Given the description of an element on the screen output the (x, y) to click on. 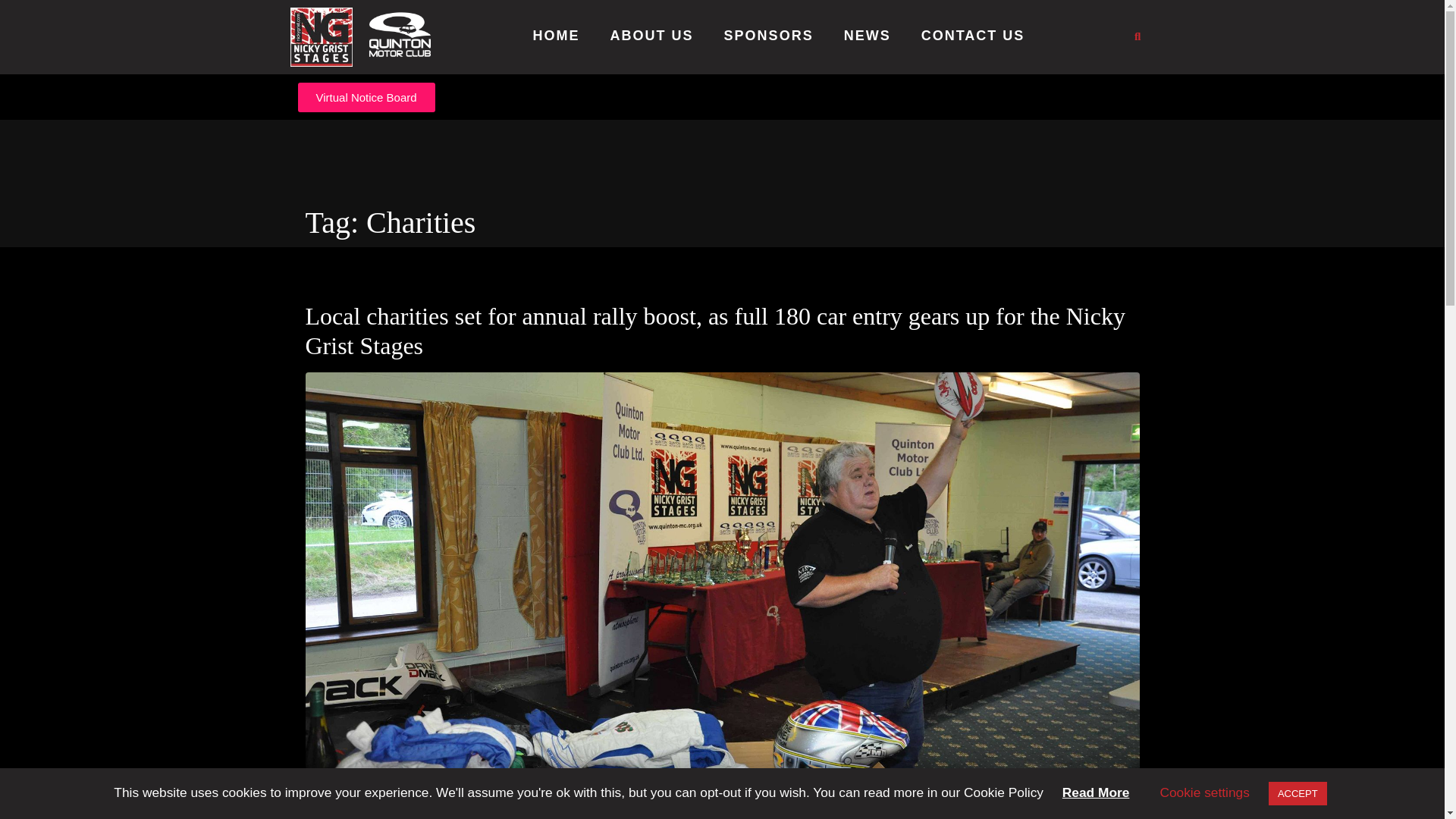
HOME (555, 36)
ABOUT US (652, 36)
NEWS (867, 36)
SPONSORS (768, 36)
CONTACT US (973, 36)
